Given the description of an element on the screen output the (x, y) to click on. 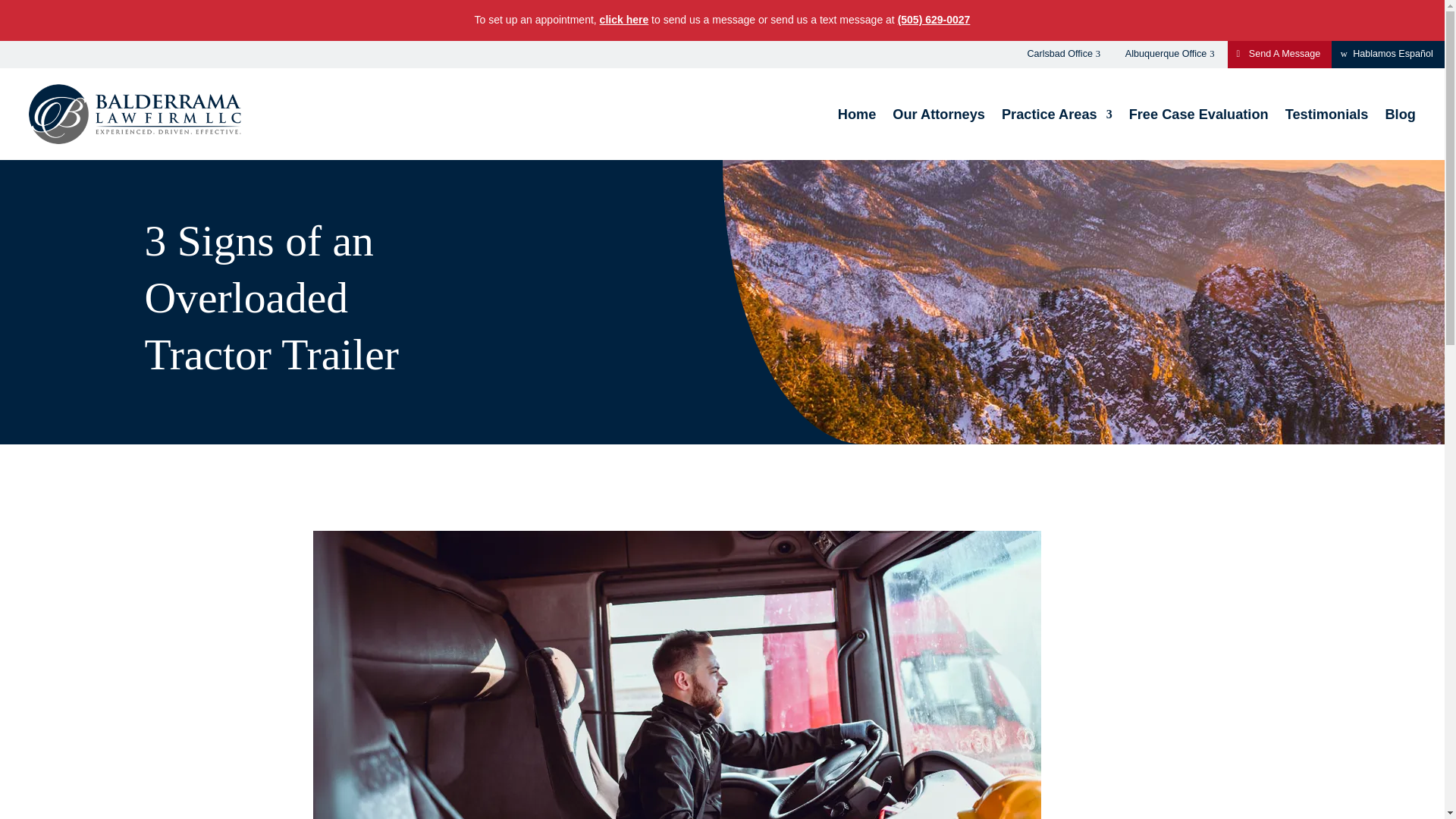
Send A Message (1279, 54)
Albuquerque Office (1170, 54)
Carlsbad Office (1063, 54)
Our Attorneys (938, 114)
Testimonials (1326, 114)
Practice Areas (1056, 114)
Free Case Evaluation (1198, 114)
click here (624, 19)
